Given the description of an element on the screen output the (x, y) to click on. 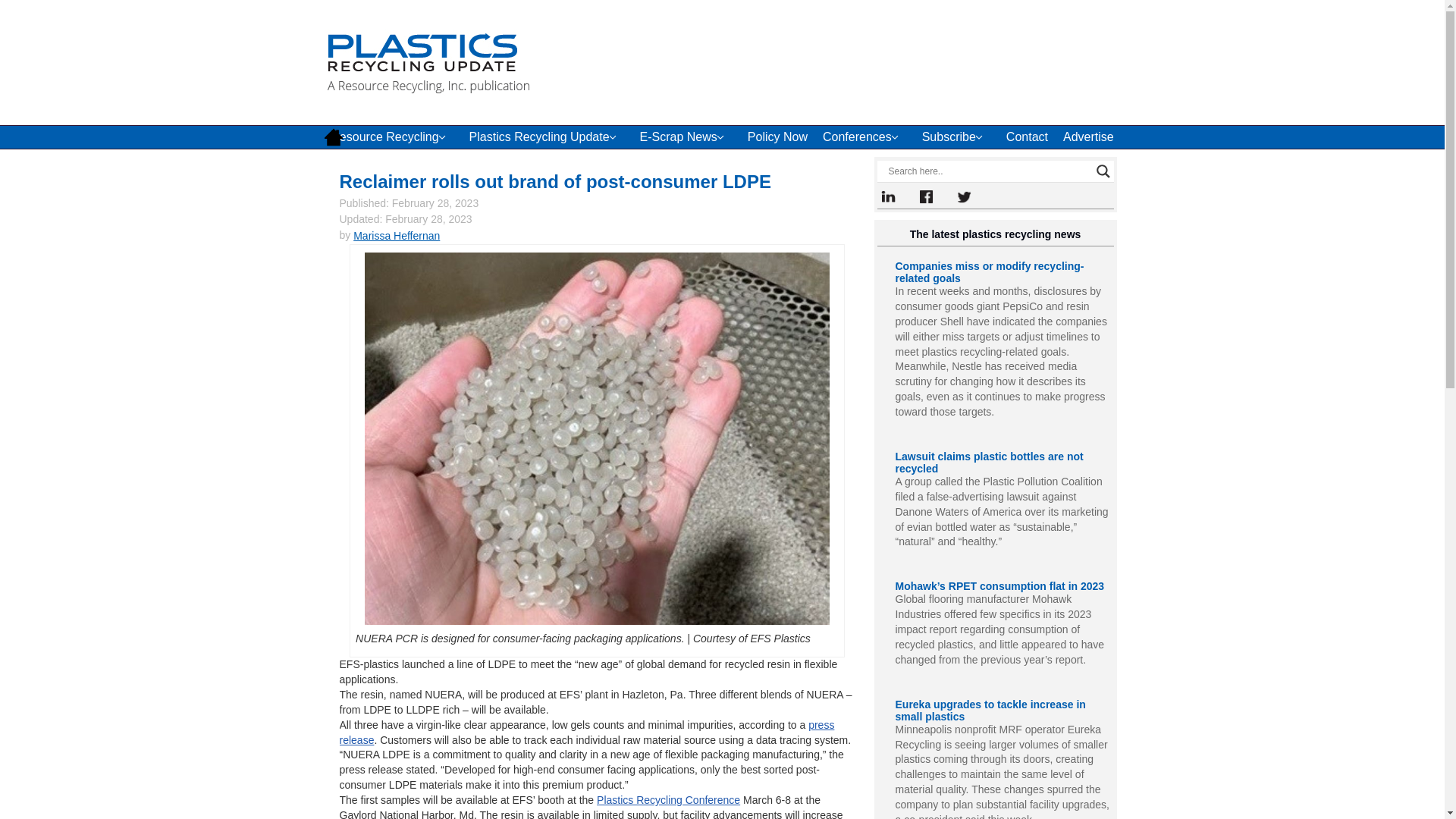
E-Scrap News (685, 137)
Subscribe (956, 137)
Resource Recycling (392, 137)
Plastics Recycling Update (546, 137)
View all posts by Marissa Heffernan (396, 235)
Conferences (864, 137)
Advertise (1088, 137)
Policy Now (777, 137)
Permalink to Reclaimer rolls out brand of post-consumer LDPE (555, 181)
Contact (1026, 137)
